Given the description of an element on the screen output the (x, y) to click on. 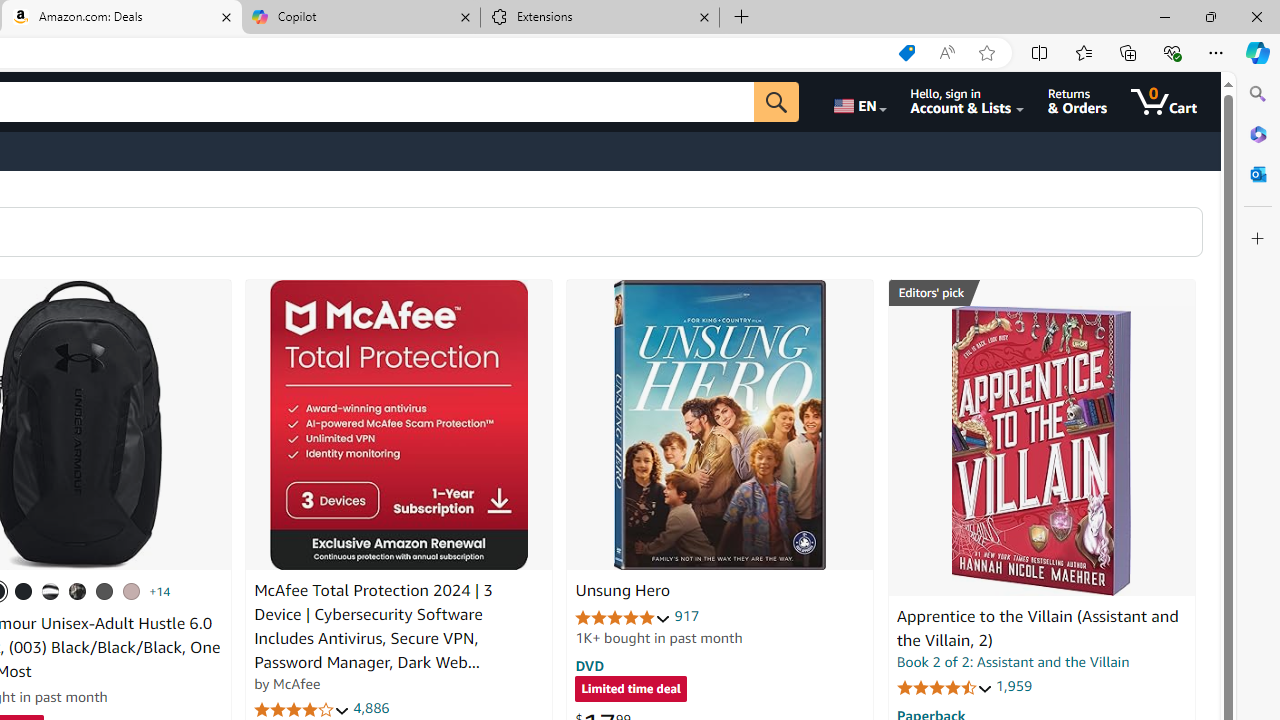
Choose a language for shopping. (858, 101)
